Given the description of an element on the screen output the (x, y) to click on. 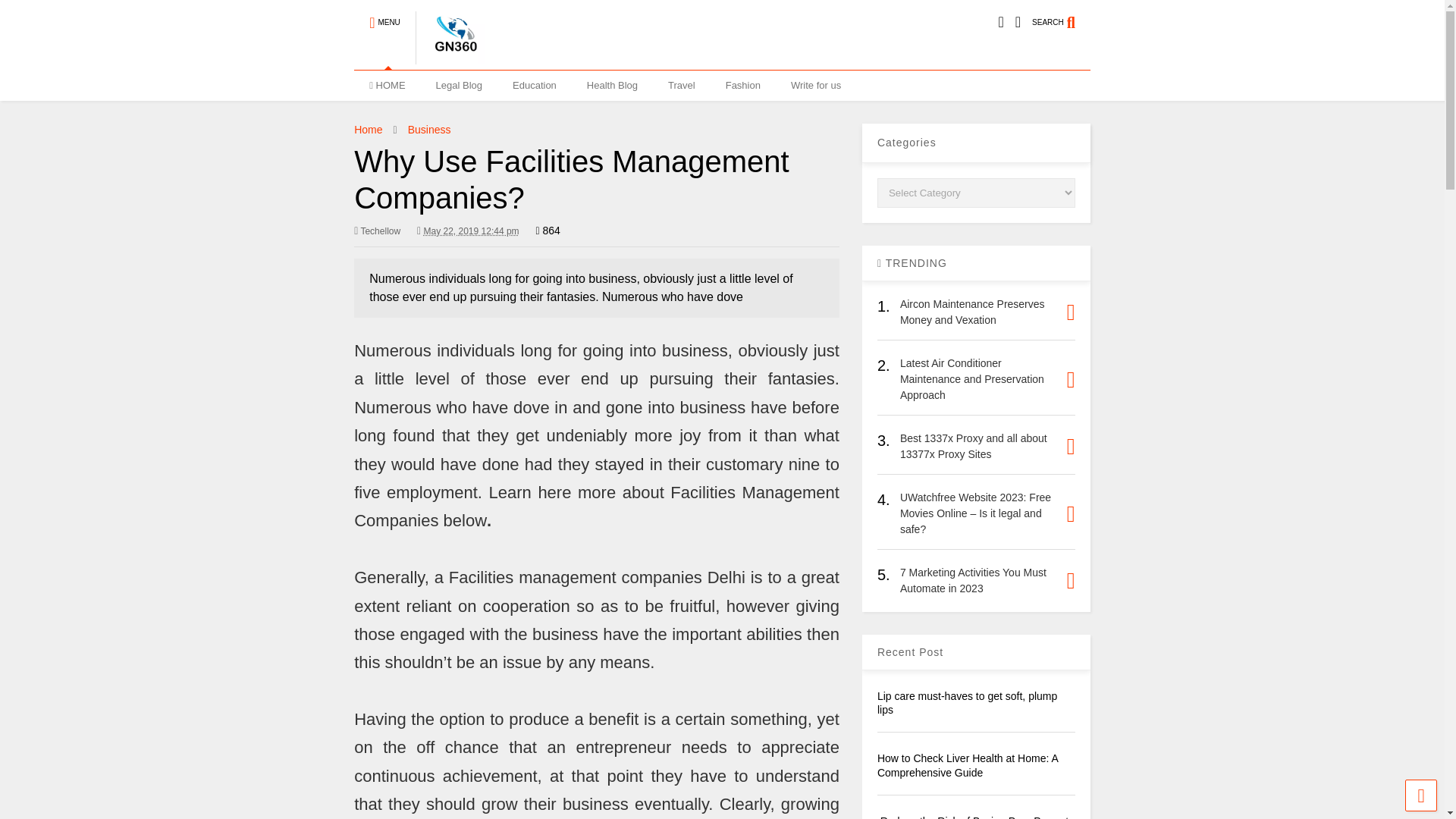
Techellow (376, 231)
Write for us (816, 85)
SEARCH (1061, 15)
Education (534, 85)
Home (367, 129)
Travel (681, 85)
Aircon Maintenance Preserves Money and Vexation (972, 311)
May 22, 2019 12:44 pm (467, 231)
HOME (386, 85)
Business (429, 129)
Fashion (743, 85)
Latest Air Conditioner Maintenance and Preservation Approach (971, 379)
How to Check Liver Health at Home: A Comprehensive Guide (967, 765)
June 27, 2023 7:30 pm (470, 231)
